Given the description of an element on the screen output the (x, y) to click on. 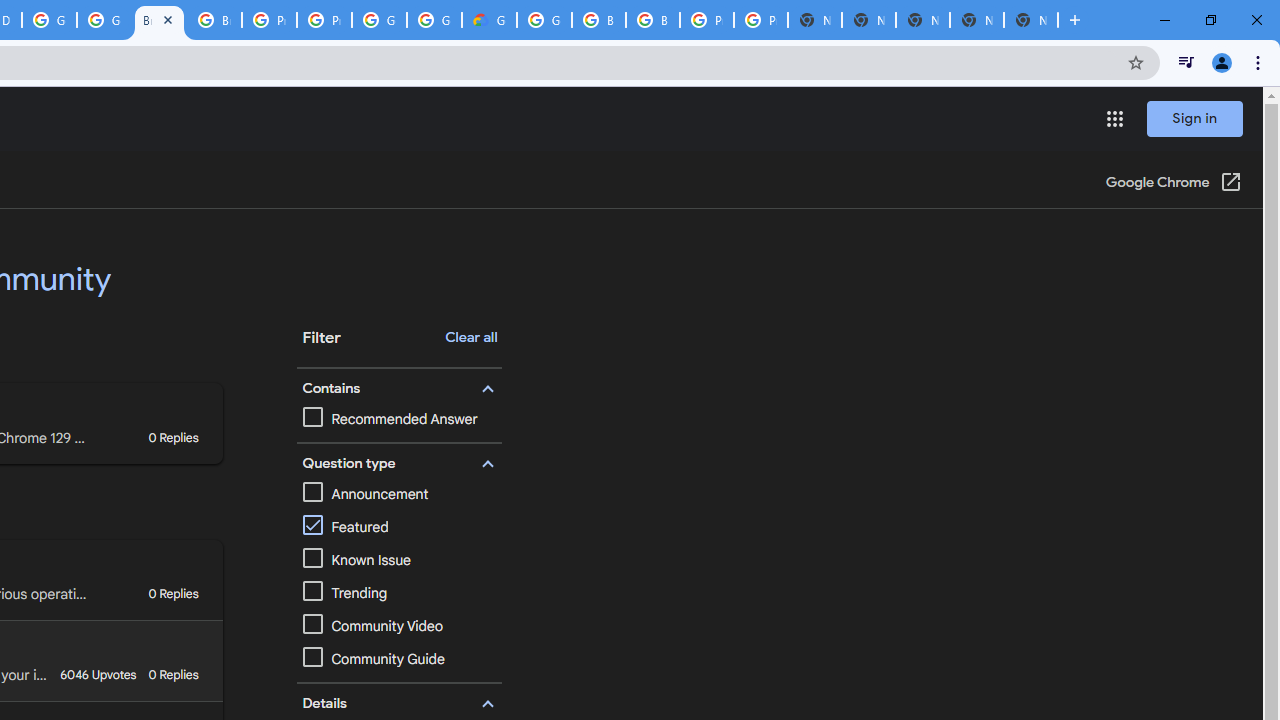
 Details filter group  (396, 704)
Recommended Answer (389, 419)
Browse Chrome as a guest - Computer - Google Chrome Help (598, 20)
Community Guide (399, 659)
Known Issue (399, 560)
Browse Chrome as a guest - Computer - Google Chrome Help (652, 20)
Control your music, videos, and more (1185, 62)
Trending (344, 593)
Browse the Google Chrome Community - Google Chrome Community (158, 20)
Google Cloud Platform (434, 20)
